Given the description of an element on the screen output the (x, y) to click on. 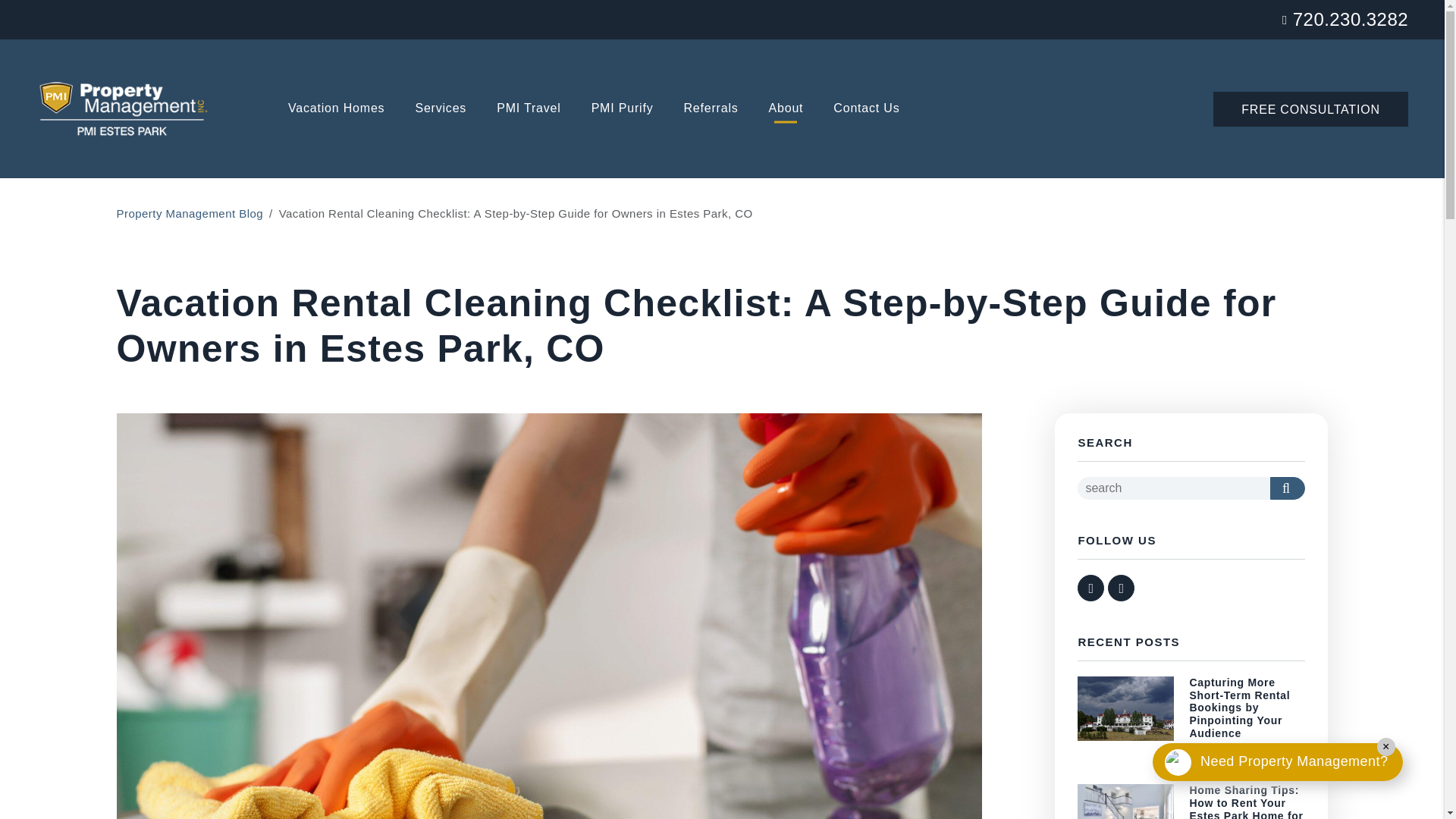
Contact Us (865, 108)
PMI Travel (528, 108)
720.230.3282 (1349, 19)
Referrals (710, 108)
FREE CONSULTATION (1309, 108)
At least 3 characters (1173, 487)
About (785, 108)
PMI Purify (622, 108)
opens in a new window (1090, 587)
Services (439, 108)
Opens in a new window (336, 108)
Vacation Homes (336, 108)
opens in a new window (1121, 587)
